Given the description of an element on the screen output the (x, y) to click on. 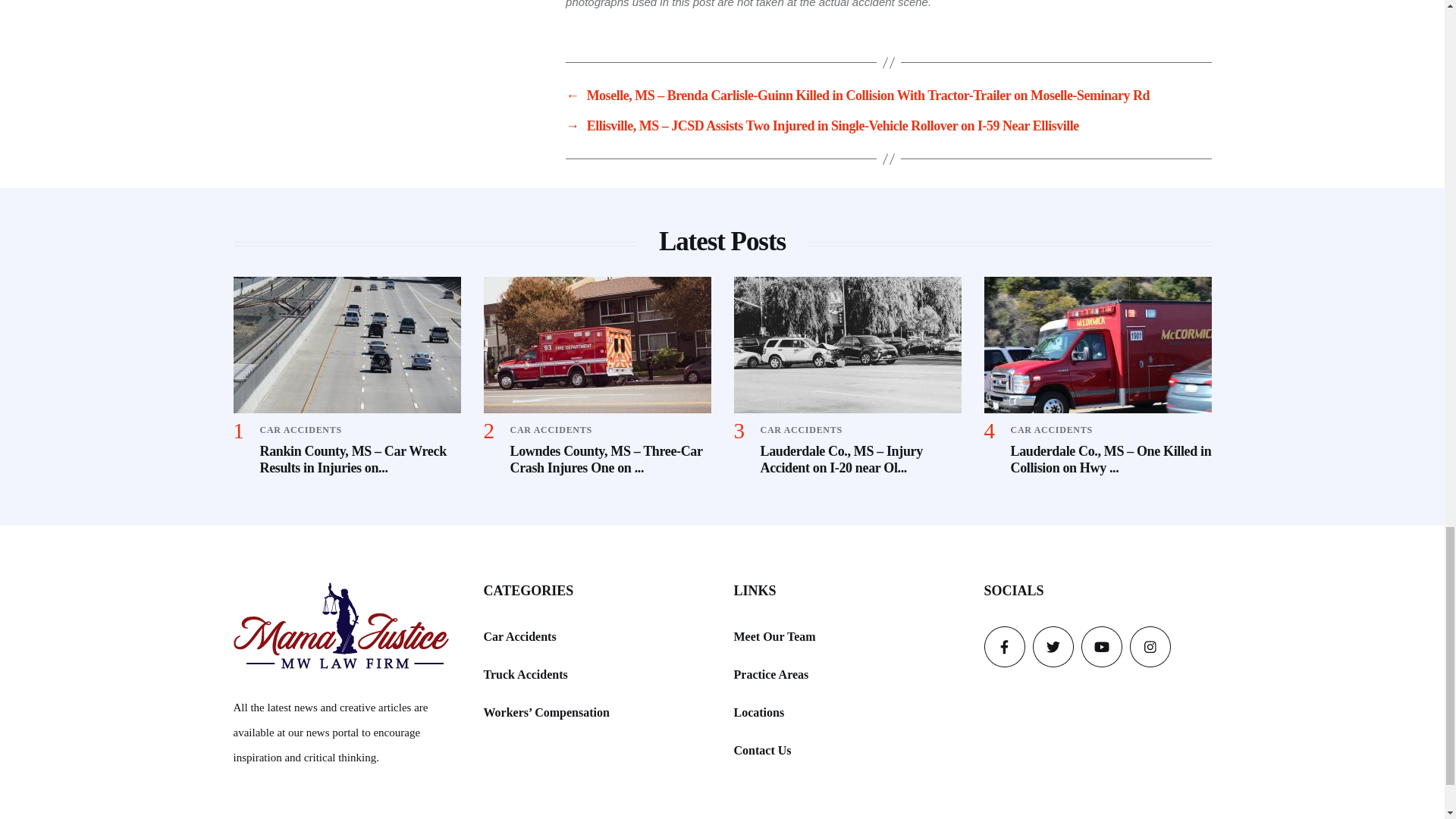
CAR ACCIDENTS (299, 429)
Car Accidents (519, 636)
CAR ACCIDENTS (800, 429)
CAR ACCIDENTS (1051, 429)
CAR ACCIDENTS (550, 429)
Truck Accidents (525, 674)
